Given the description of an element on the screen output the (x, y) to click on. 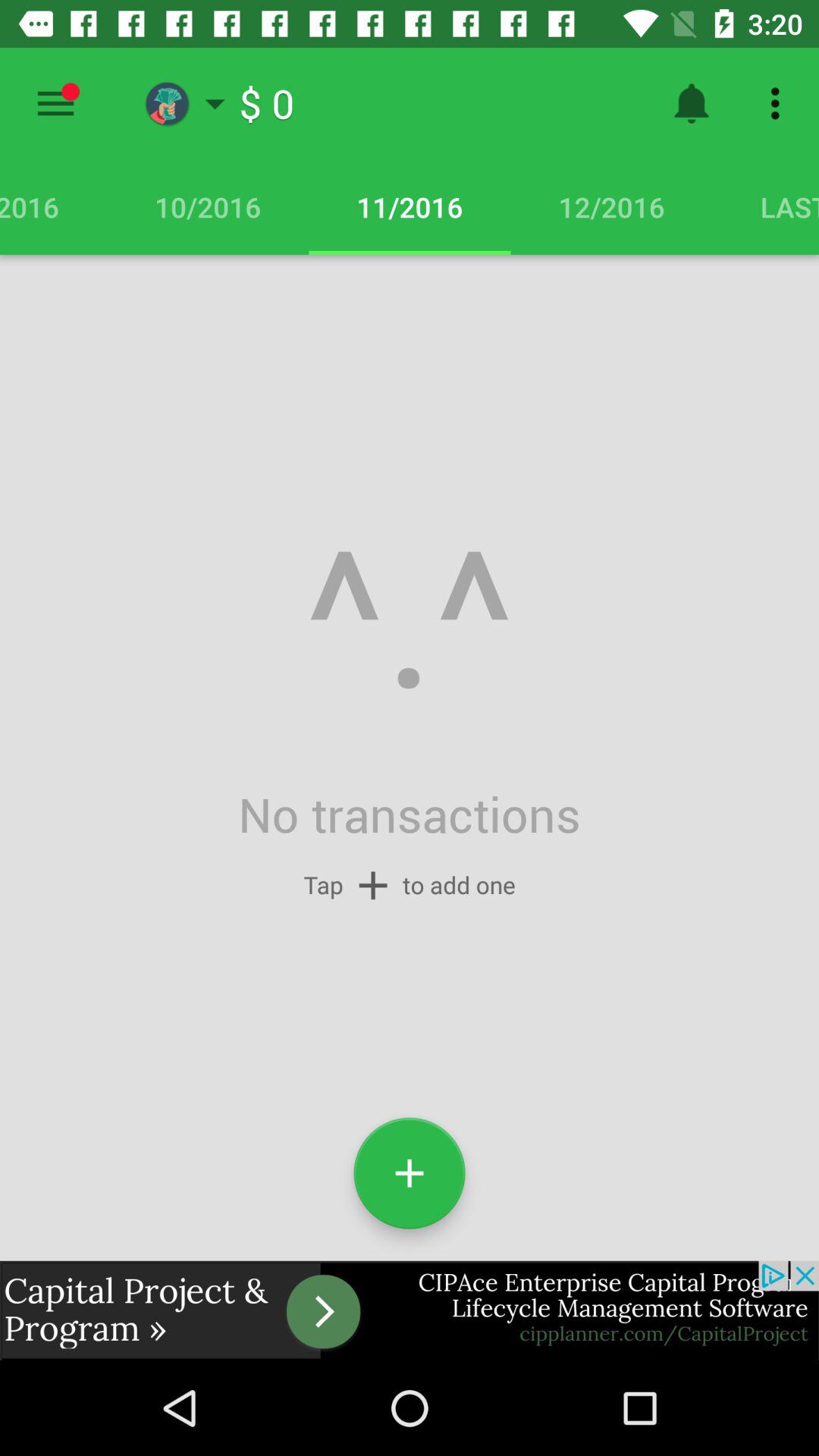
advertisement link (409, 1310)
